Given the description of an element on the screen output the (x, y) to click on. 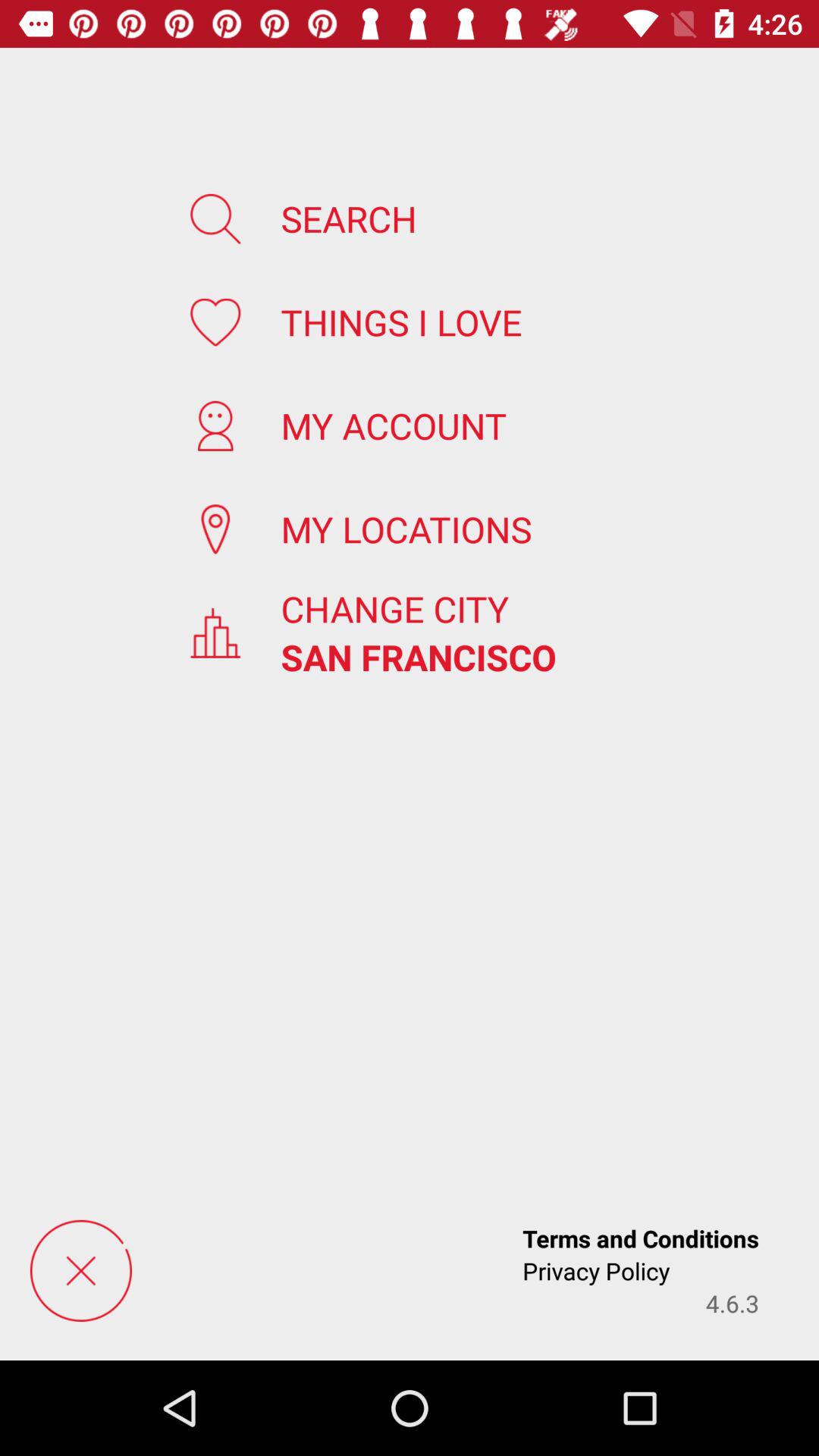
select the icon below the terms and conditions app (732, 1303)
